Given the description of an element on the screen output the (x, y) to click on. 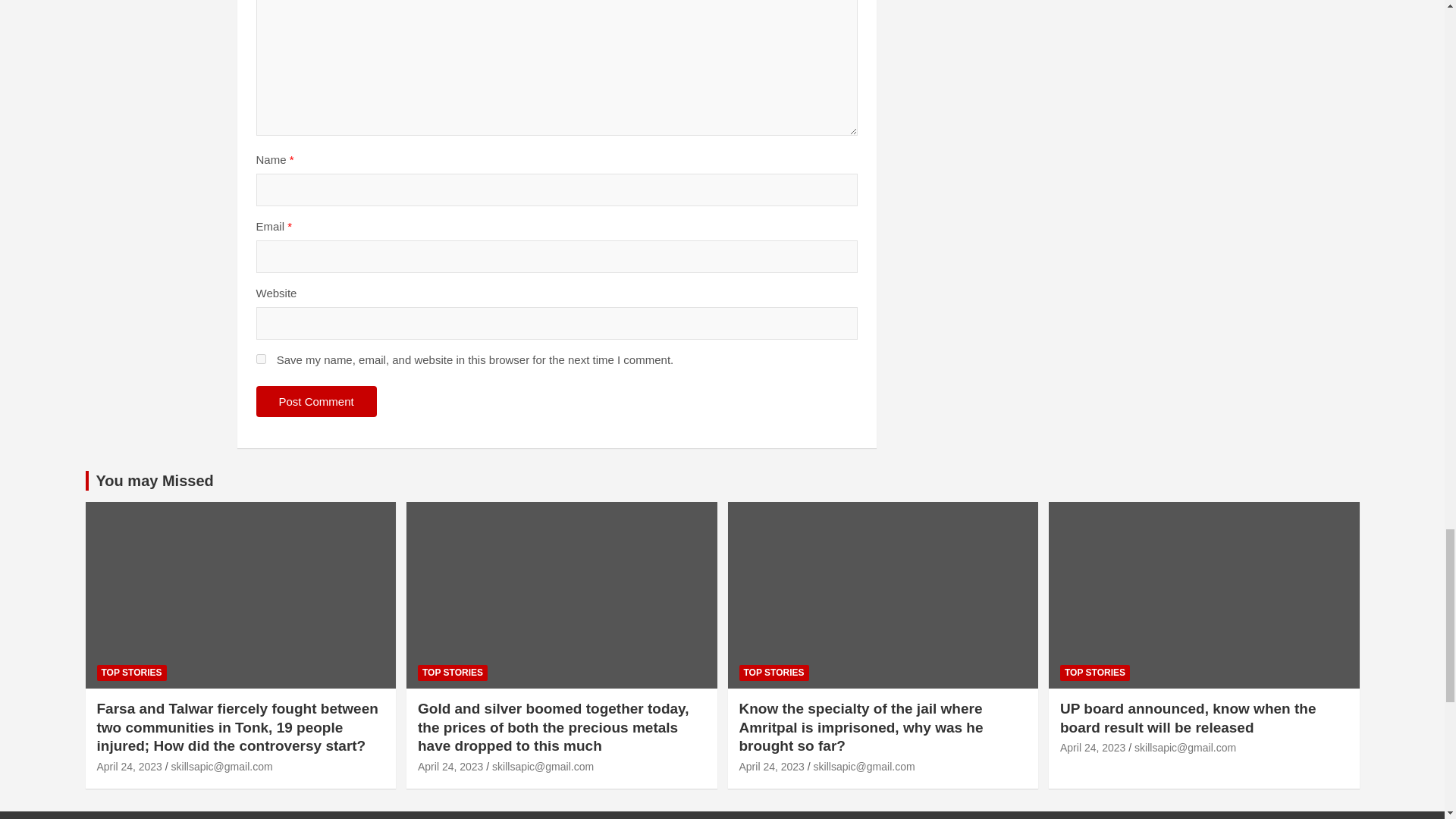
Post Comment (316, 400)
yes (261, 358)
